Given the description of an element on the screen output the (x, y) to click on. 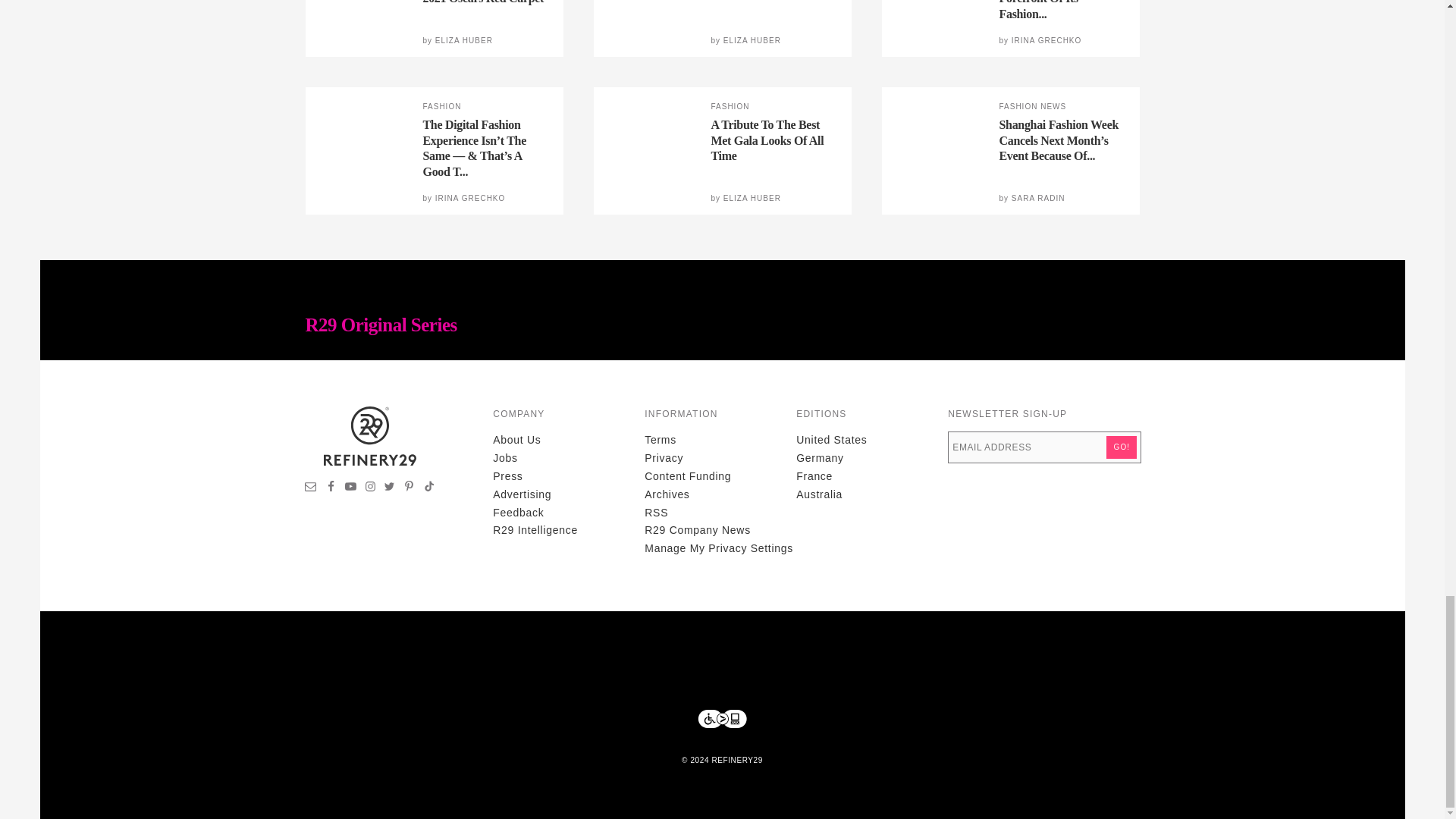
Visit Refinery29 on TikTok (428, 488)
Visit Refinery29 on YouTube (350, 488)
Sign up for newsletters (310, 488)
